Given the description of an element on the screen output the (x, y) to click on. 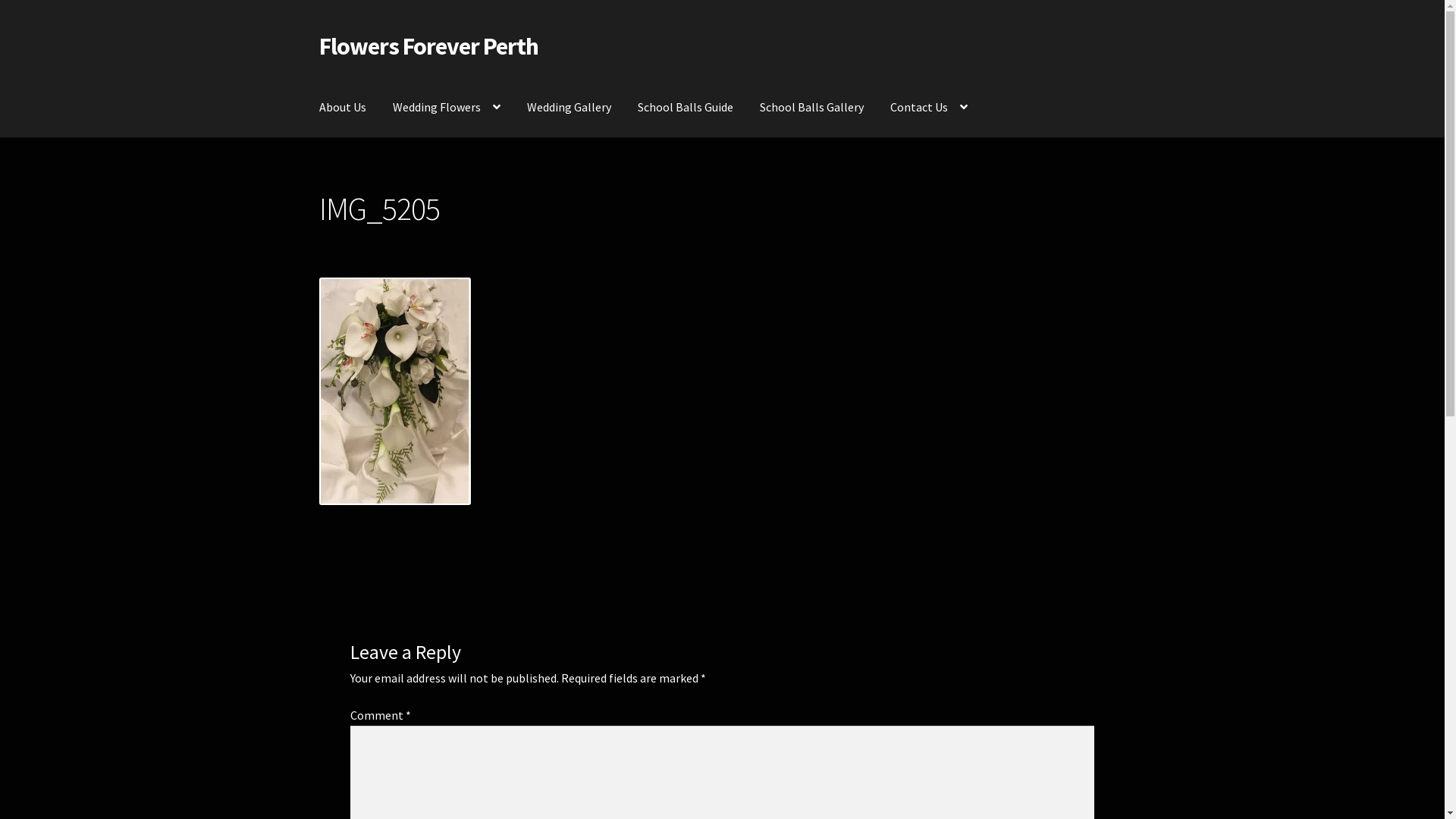
About Us Element type: text (342, 107)
Contact Us Element type: text (928, 107)
Wedding Flowers Element type: text (446, 107)
Wedding Gallery Element type: text (568, 107)
School Balls Guide Element type: text (685, 107)
Flowers Forever Perth Element type: text (428, 46)
Skip to navigation Element type: text (318, 31)
School Balls Gallery Element type: text (811, 107)
